Given the description of an element on the screen output the (x, y) to click on. 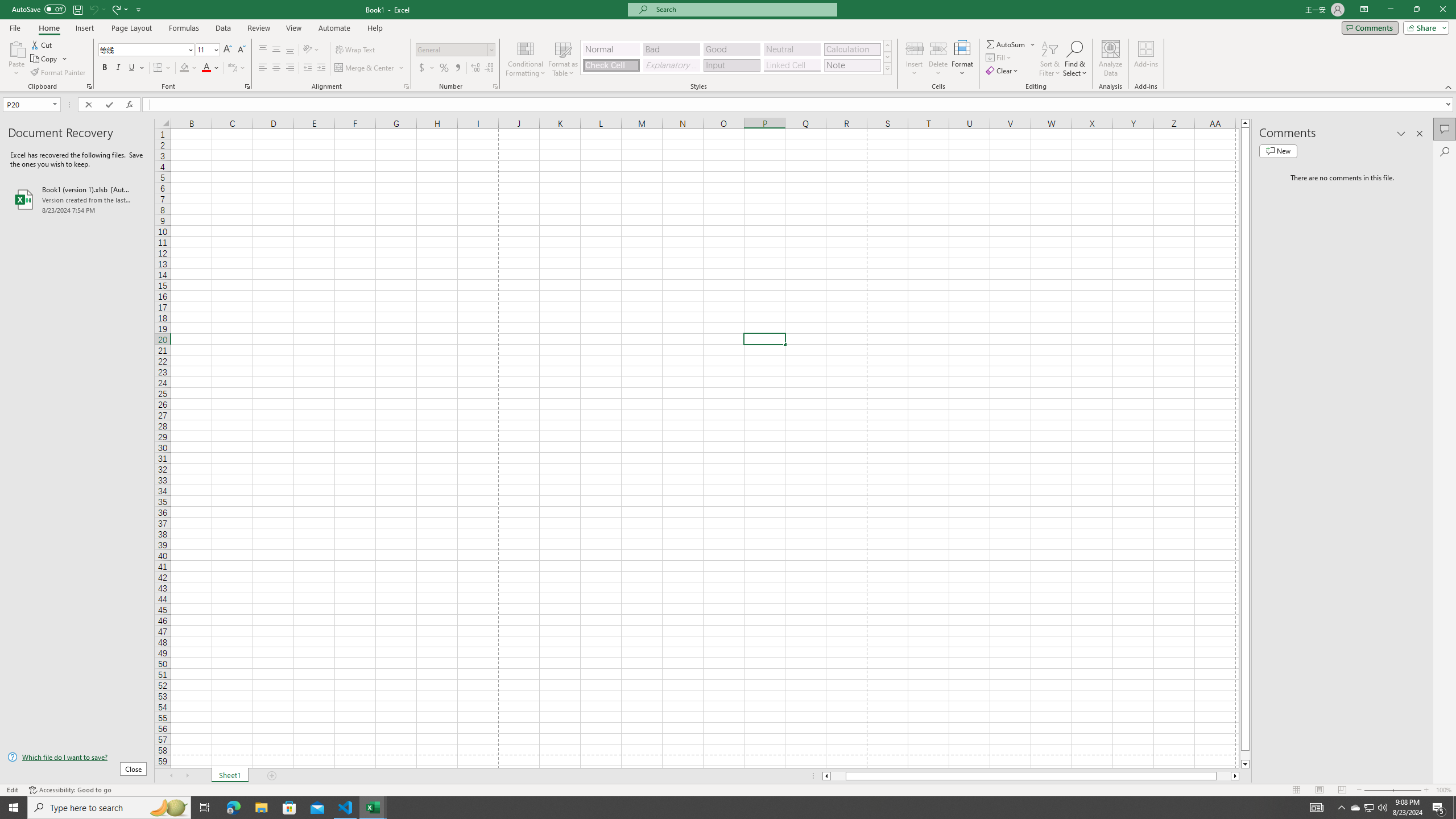
Format Painter (58, 72)
Name Box (27, 104)
Class: NetUIScrollBar (1030, 775)
Show Phonetic Field (231, 67)
Cell Styles (887, 68)
Zoom (1392, 790)
Check Cell (611, 65)
Insert Cells (914, 48)
Accounting Number Format (426, 67)
Underline (136, 67)
Comments (1444, 128)
Row up (887, 45)
Customize Quick Access Toolbar (139, 9)
Share (1423, 27)
Analyze Data (1110, 58)
